Given the description of an element on the screen output the (x, y) to click on. 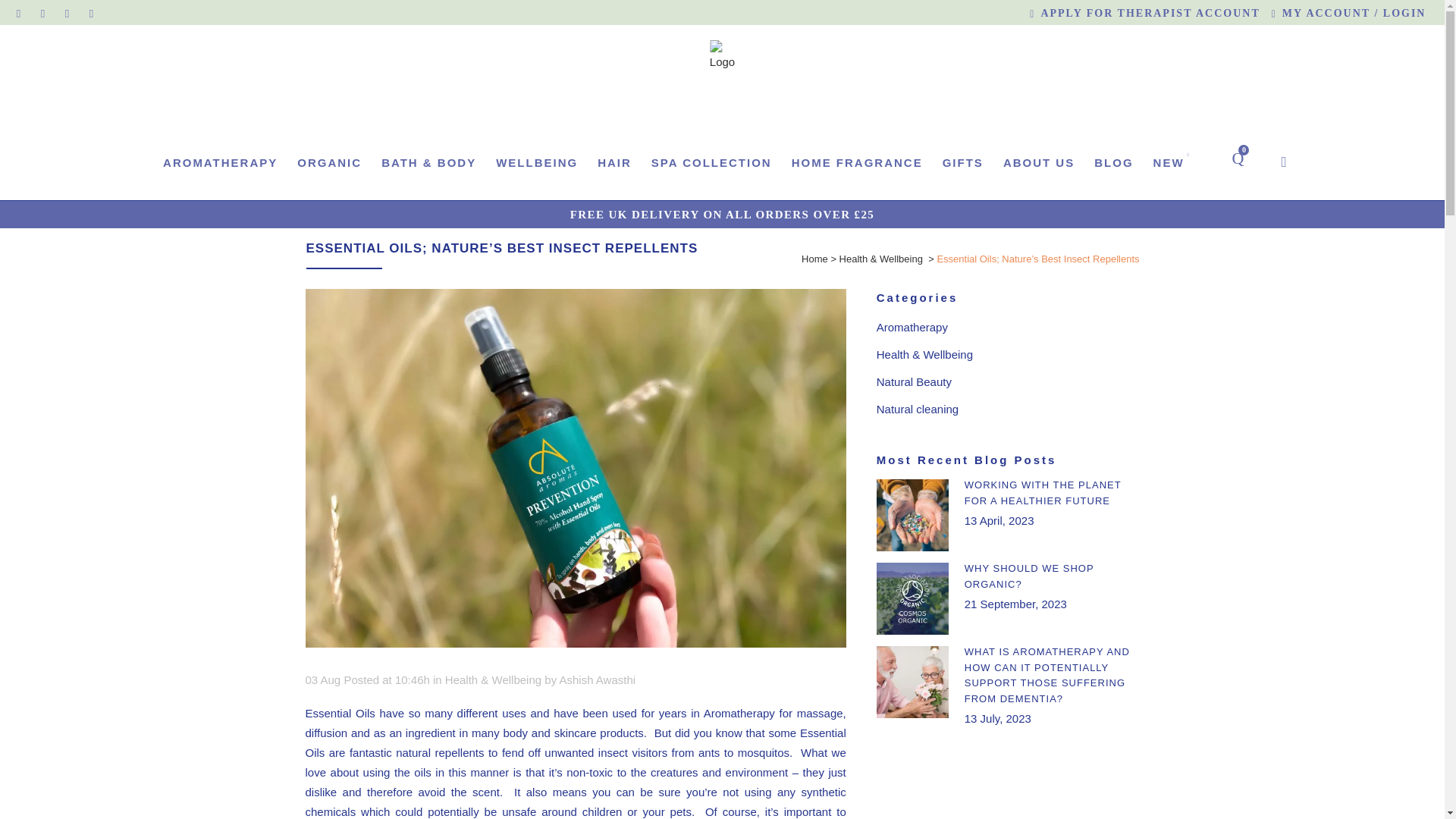
APPLY FOR THERAPIST ACCOUNT (1138, 13)
WELLBEING (537, 161)
AROMATHERAPY (219, 161)
ORGANIC (328, 161)
